Given the description of an element on the screen output the (x, y) to click on. 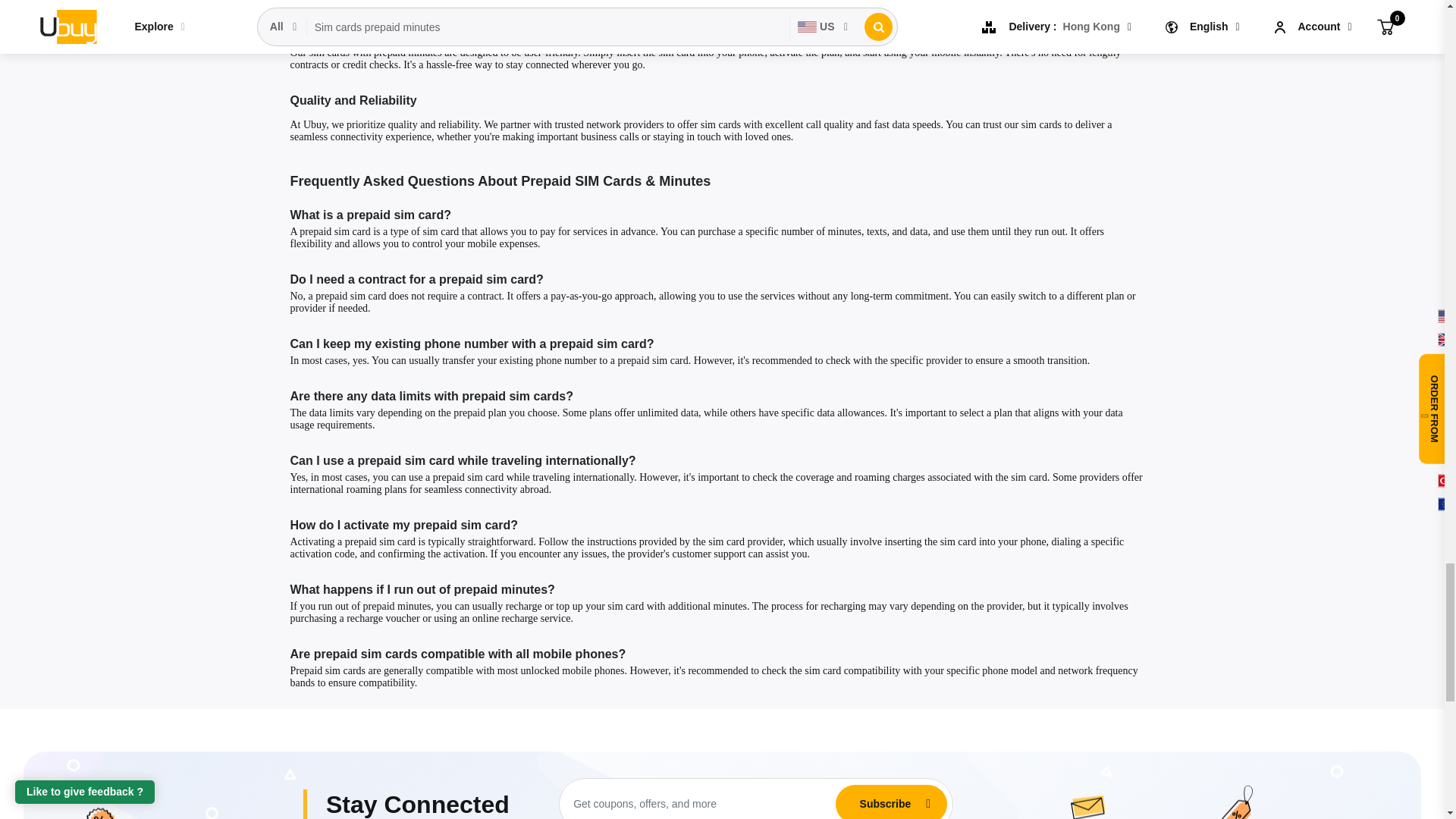
Subscribe (885, 803)
